Given the description of an element on the screen output the (x, y) to click on. 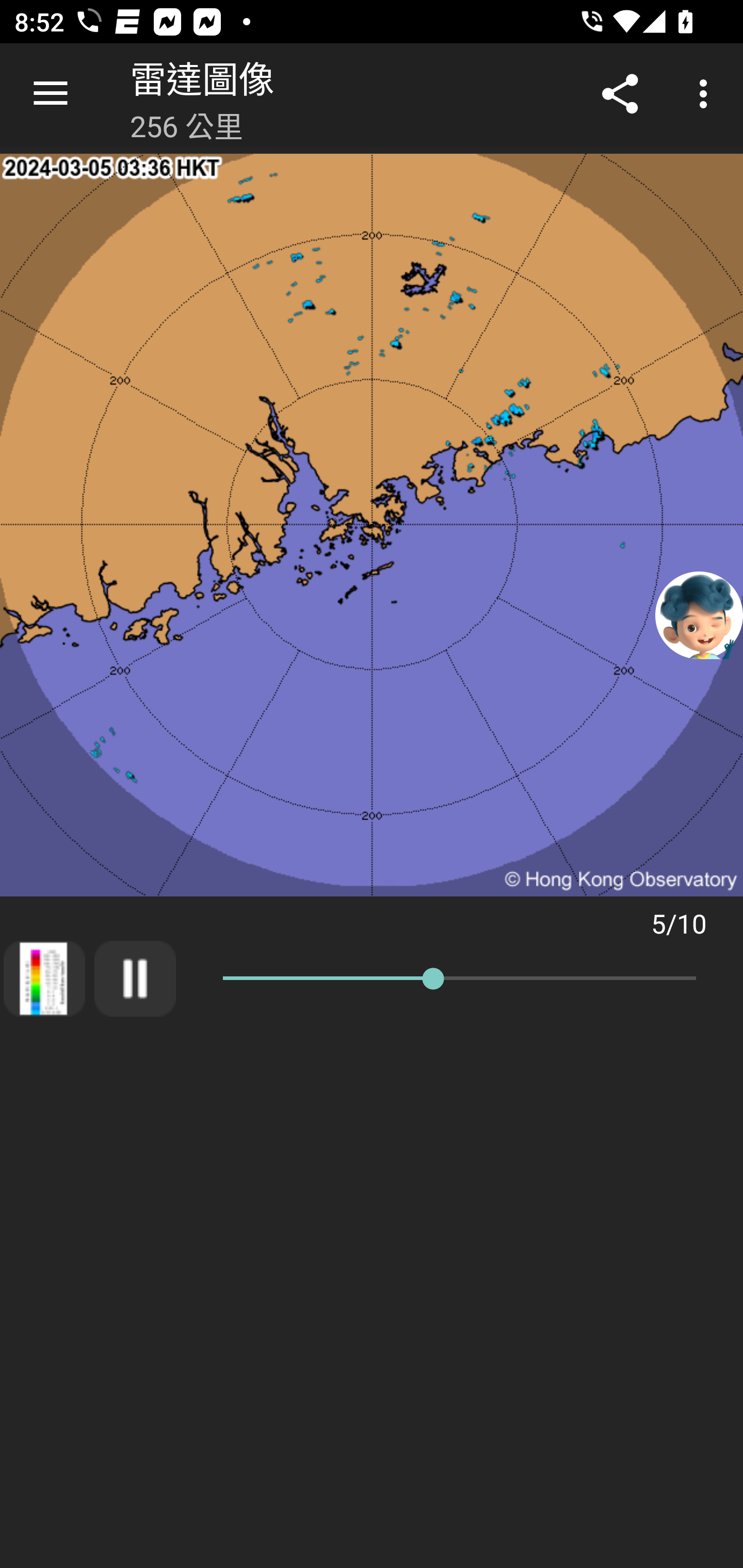
向上瀏覽 (50, 93)
分享 (619, 93)
更多選項 (706, 93)
聊天機械人 (699, 614)
圖解 (44, 978)
暫停 (135, 978)
